Given the description of an element on the screen output the (x, y) to click on. 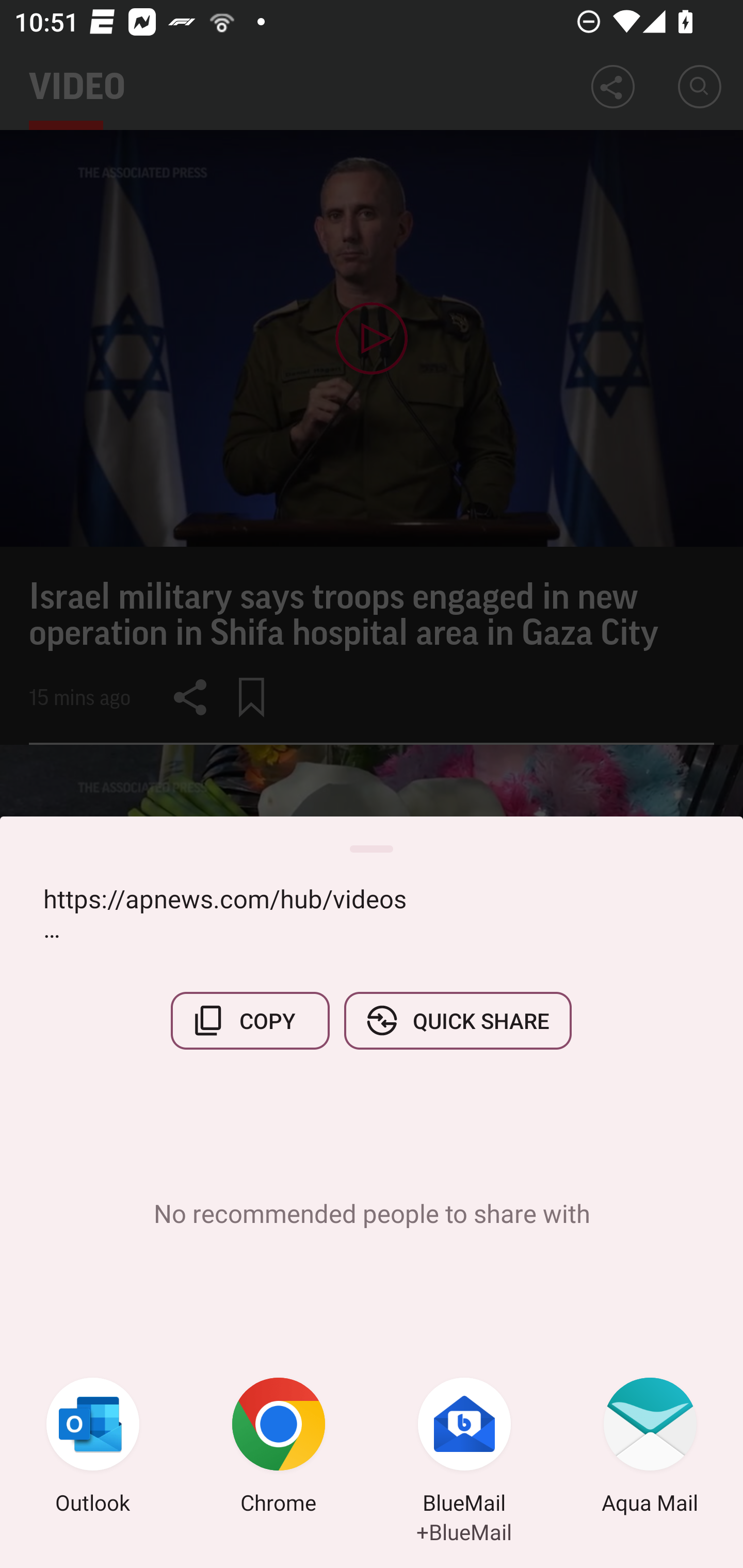
COPY (249, 1020)
QUICK SHARE (457, 1020)
Outlook (92, 1448)
Chrome (278, 1448)
BlueMail +BlueMail (464, 1448)
Aqua Mail (650, 1448)
